Given the description of an element on the screen output the (x, y) to click on. 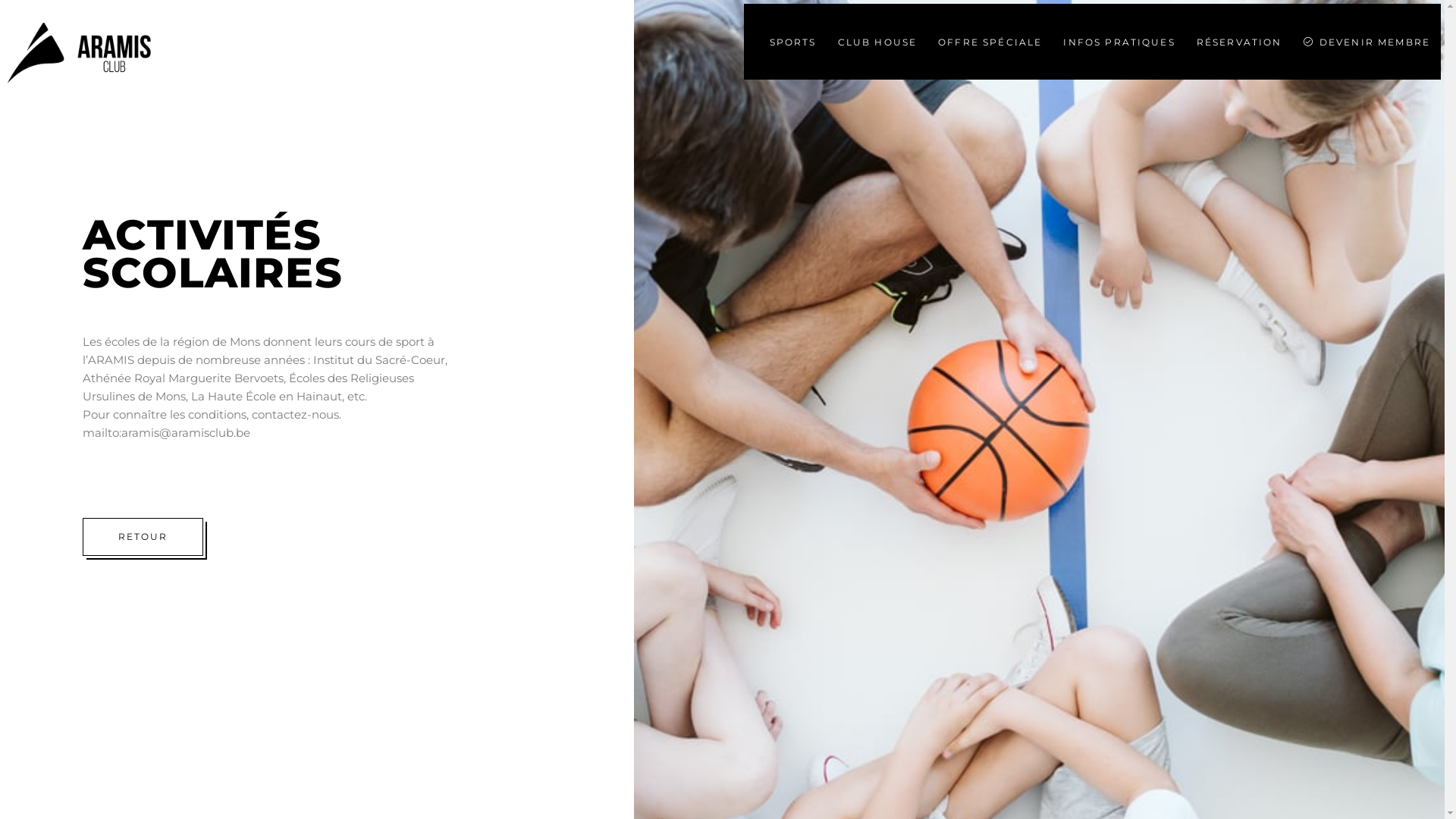
RETOUR Element type: text (142, 536)
DEVENIR MEMBRE Element type: text (1366, 41)
CLUB HOUSE Element type: text (877, 41)
INFOS PRATIQUES Element type: text (1118, 41)
SPORTS Element type: text (793, 41)
